Given the description of an element on the screen output the (x, y) to click on. 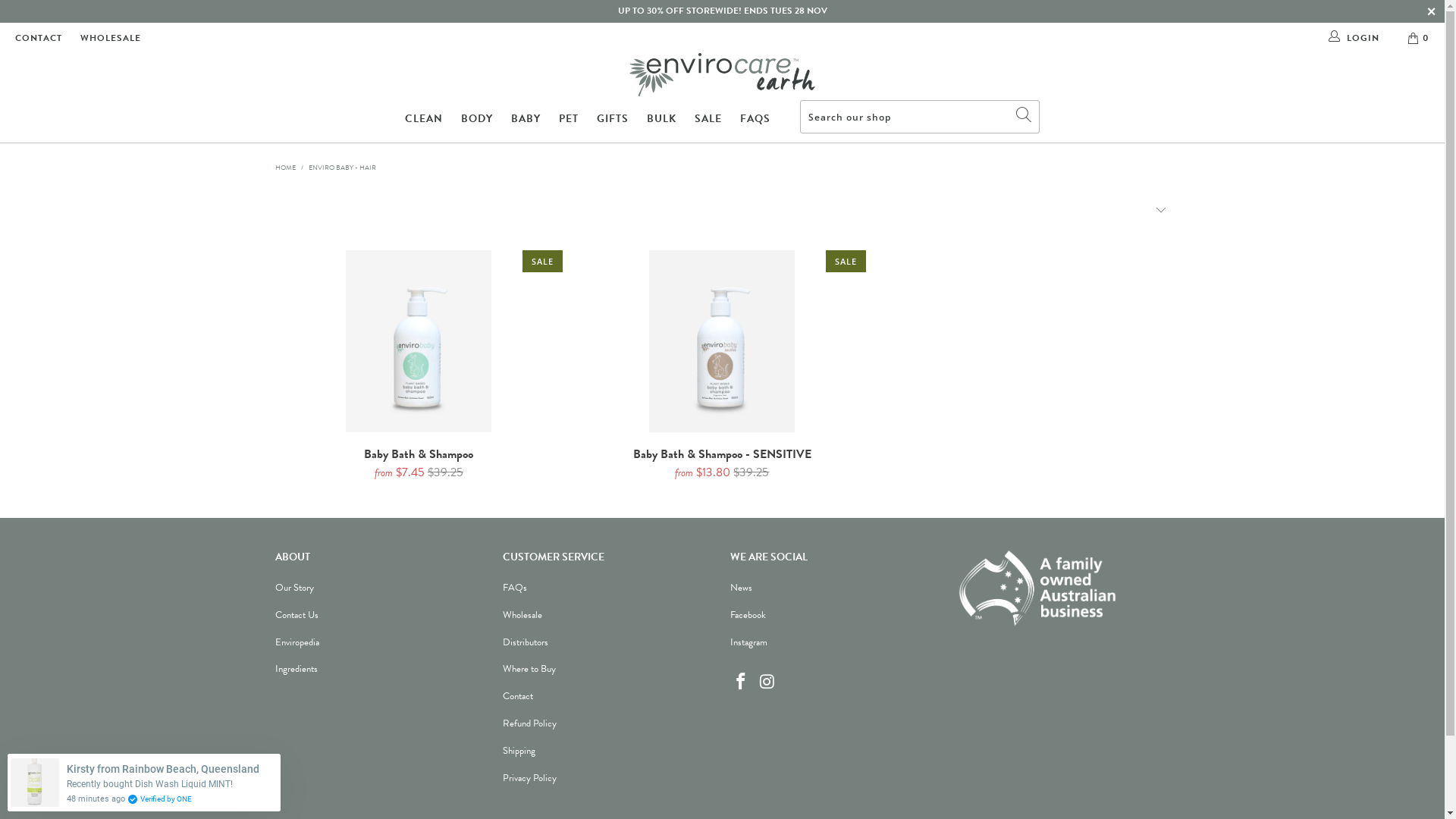
BABY Element type: text (525, 119)
Ingredients Element type: text (295, 668)
Contact Us Element type: text (295, 614)
envirocare earth on Instagram Element type: hover (767, 682)
Facebook Element type: text (747, 614)
CLEAN Element type: text (423, 119)
PET Element type: text (568, 119)
Refund Policy Element type: text (528, 723)
Where to Buy Element type: text (528, 668)
Privacy Policy Element type: text (528, 777)
BULK Element type: text (661, 119)
envirocare earth on Facebook Element type: hover (740, 682)
News Element type: text (740, 587)
Enviropedia Element type: text (296, 641)
WHOLESALE Element type: text (110, 37)
Distributors Element type: text (524, 641)
LOGIN Element type: text (1355, 37)
envirocare earth Element type: hover (722, 74)
SALE Element type: text (707, 119)
Baby Bath & Shampoo - SENSITIVE
from $13.80 $39.25 Element type: text (721, 463)
0 Element type: text (1419, 37)
Wholesale Element type: text (521, 614)
BODY Element type: text (476, 119)
GIFTS Element type: text (612, 119)
Baby Bath & Shampoo
from $7.45 $39.25 Element type: text (418, 463)
Shipping Element type: text (518, 750)
FAQS Element type: text (755, 119)
ENVIRO BABY - HAIR Element type: text (341, 167)
Contact Element type: text (517, 695)
Instagram Element type: text (747, 641)
FAQs Element type: text (514, 587)
Our Story Element type: text (293, 587)
CONTACT Element type: text (38, 37)
HOME Element type: text (284, 167)
